Given the description of an element on the screen output the (x, y) to click on. 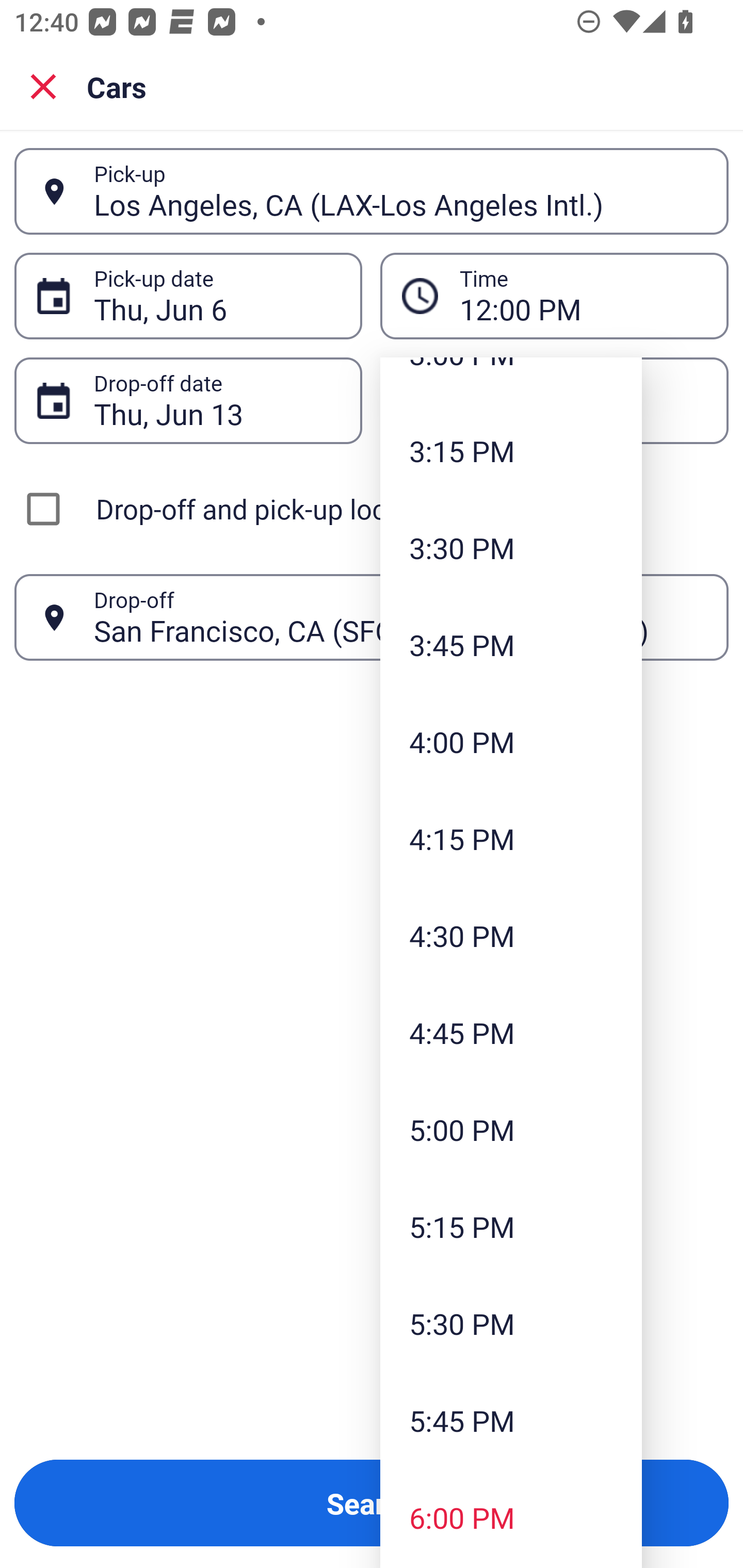
3:15 PM (510, 450)
3:30 PM (510, 546)
3:45 PM (510, 644)
4:00 PM (510, 741)
4:15 PM (510, 838)
4:30 PM (510, 935)
4:45 PM (510, 1032)
5:00 PM (510, 1128)
5:15 PM (510, 1225)
5:30 PM (510, 1323)
5:45 PM (510, 1420)
6:00 PM (510, 1517)
